Given the description of an element on the screen output the (x, y) to click on. 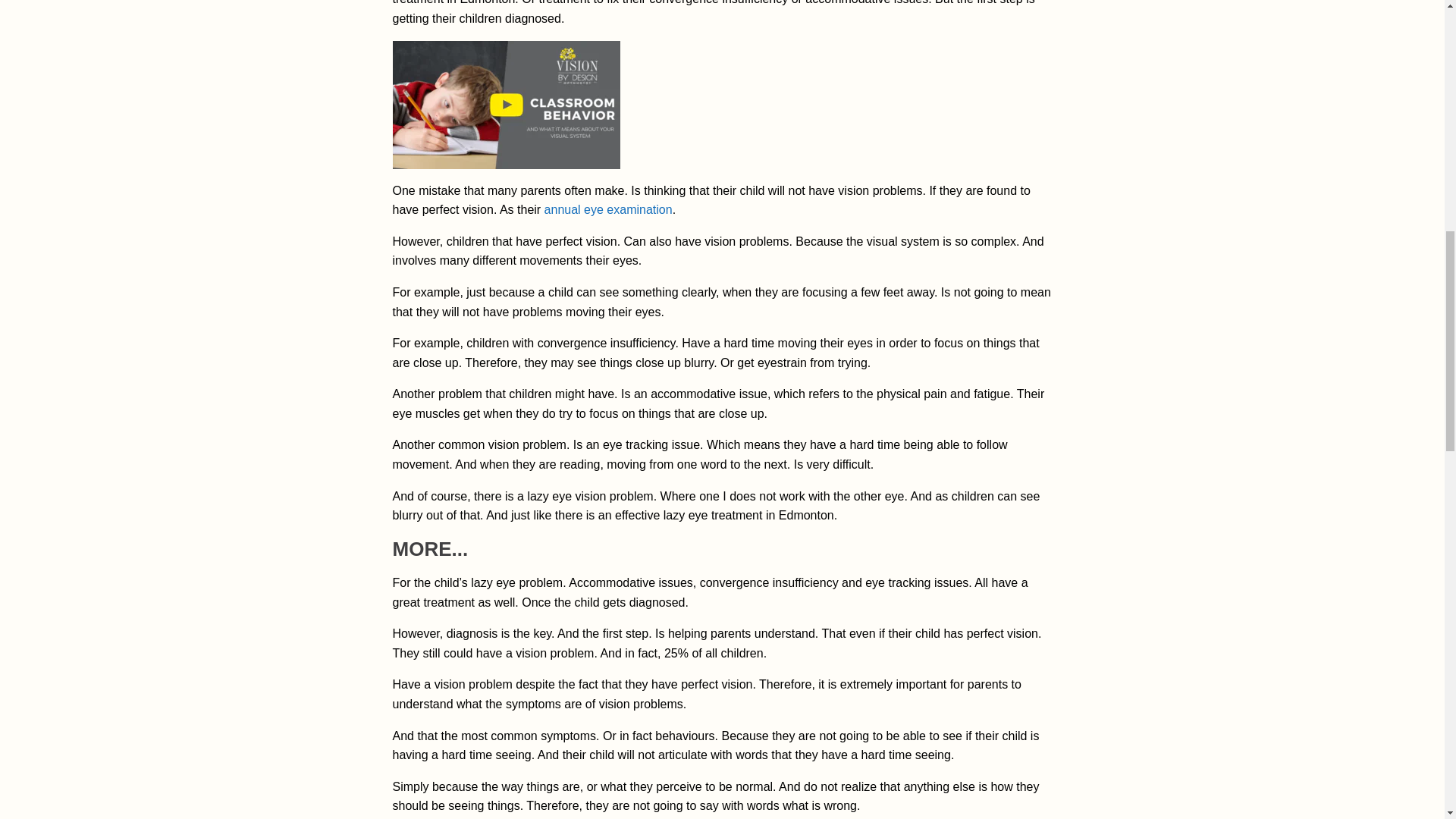
annual eye examination (608, 209)
